Given the description of an element on the screen output the (x, y) to click on. 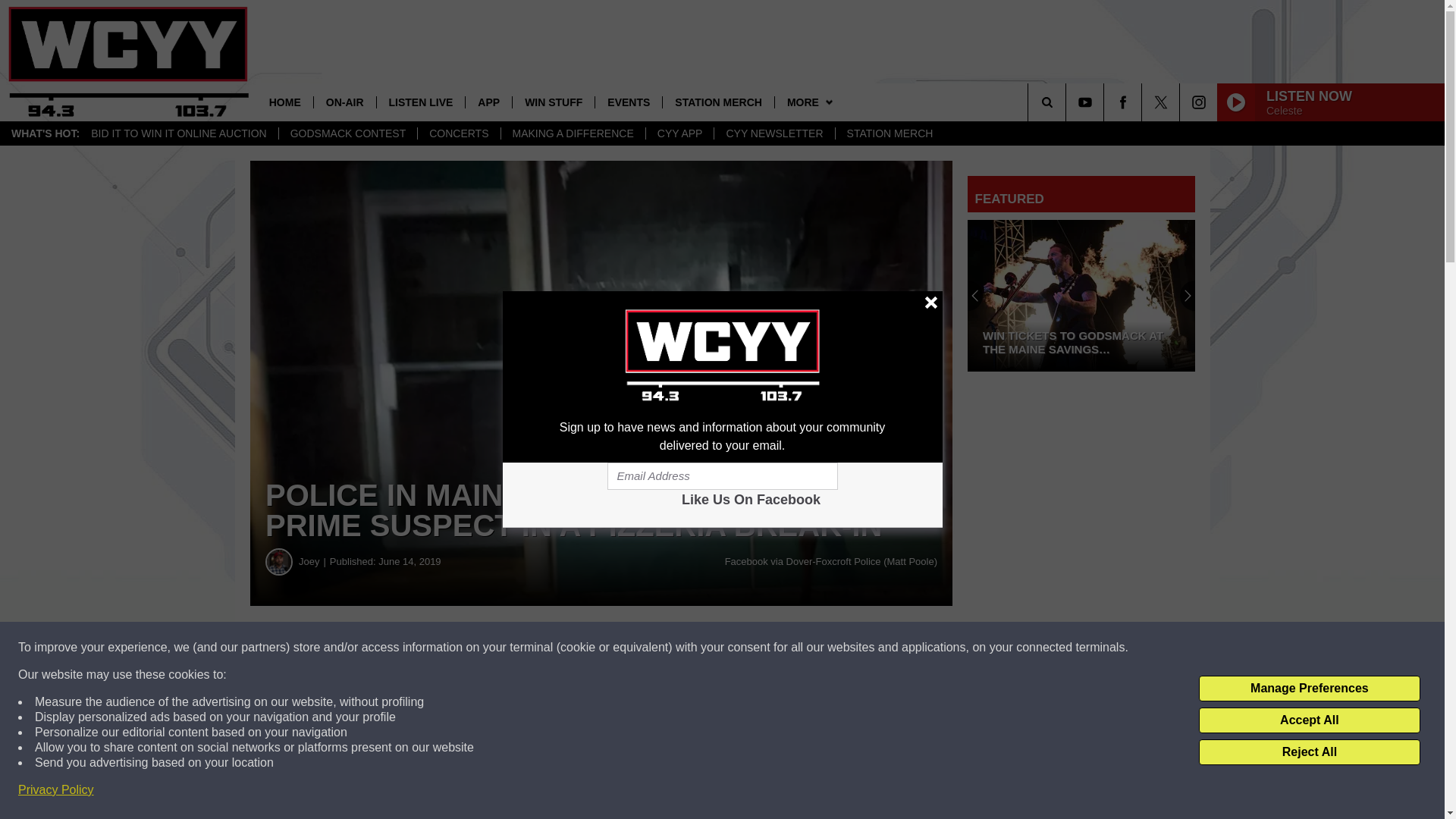
Email Address (722, 475)
Reject All (1309, 751)
Privacy Policy (55, 789)
GODSMACK CONTEST (347, 133)
WIN STUFF (553, 102)
Accept All (1309, 720)
STATION MERCH (889, 133)
BID IT TO WIN IT ONLINE AUCTION (179, 133)
CONCERTS (457, 133)
Share on Twitter (741, 647)
MAKING A DIFFERENCE (572, 133)
APP (488, 102)
EVENTS (628, 102)
SEARCH (1068, 102)
STATION MERCH (718, 102)
